Given the description of an element on the screen output the (x, y) to click on. 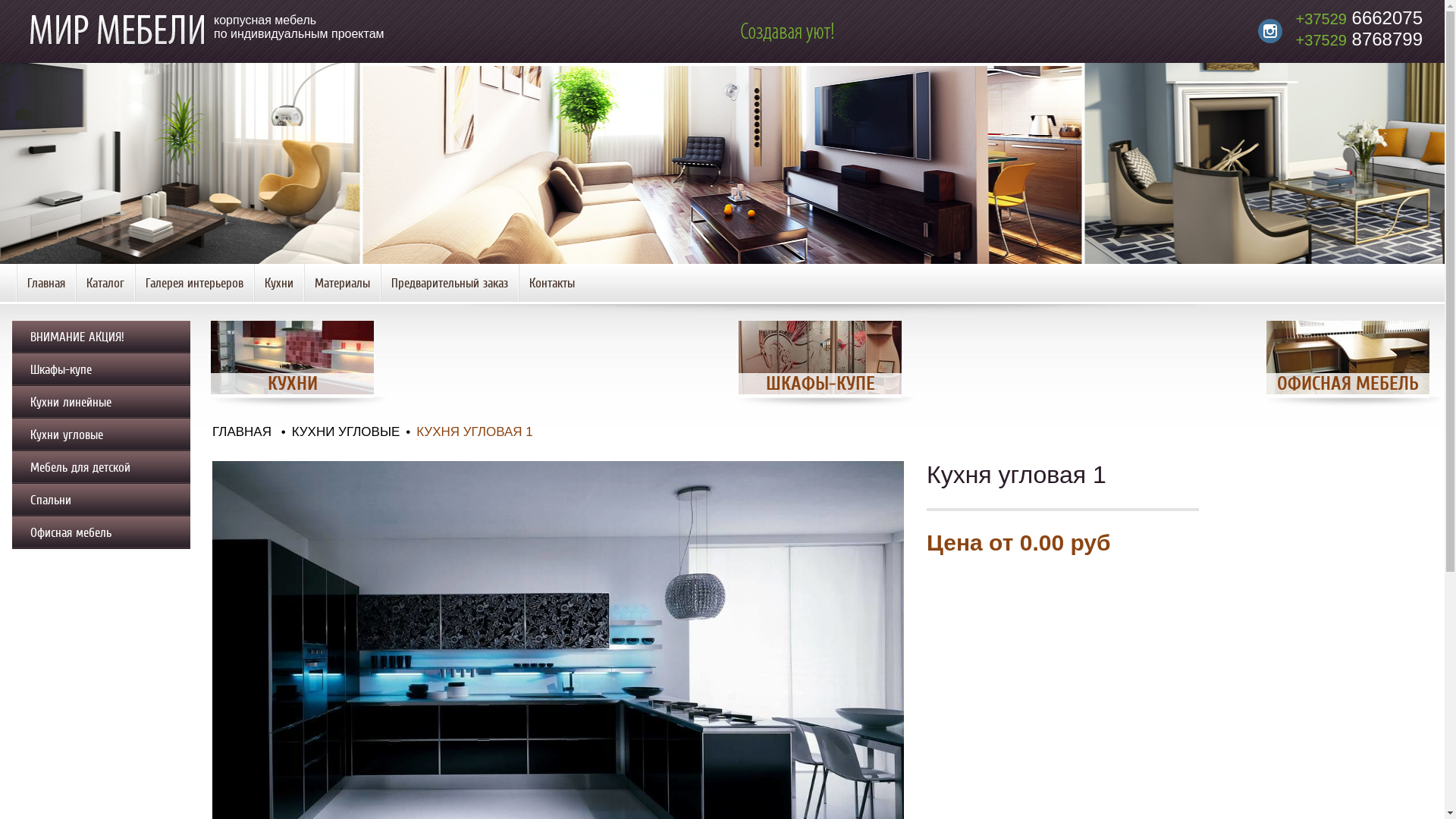
+37529 8768799 Element type: text (1358, 38)
+37529 6662075 Element type: text (1358, 17)
